Given the description of an element on the screen output the (x, y) to click on. 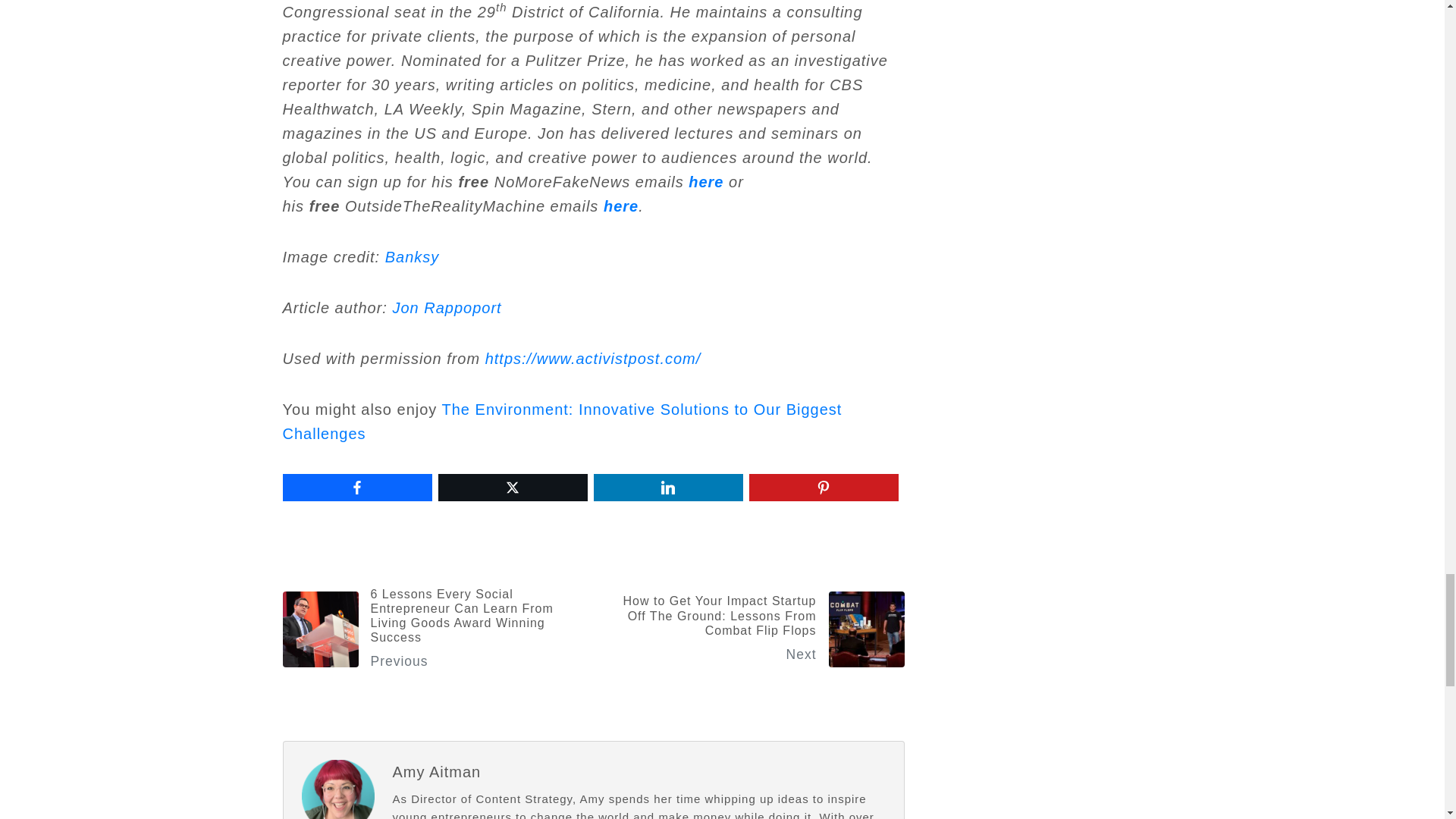
Share on Pinterest (823, 487)
Share on LinkedIn (667, 487)
Share on Twitter (513, 487)
Share on Facebook (356, 487)
